Given the description of an element on the screen output the (x, y) to click on. 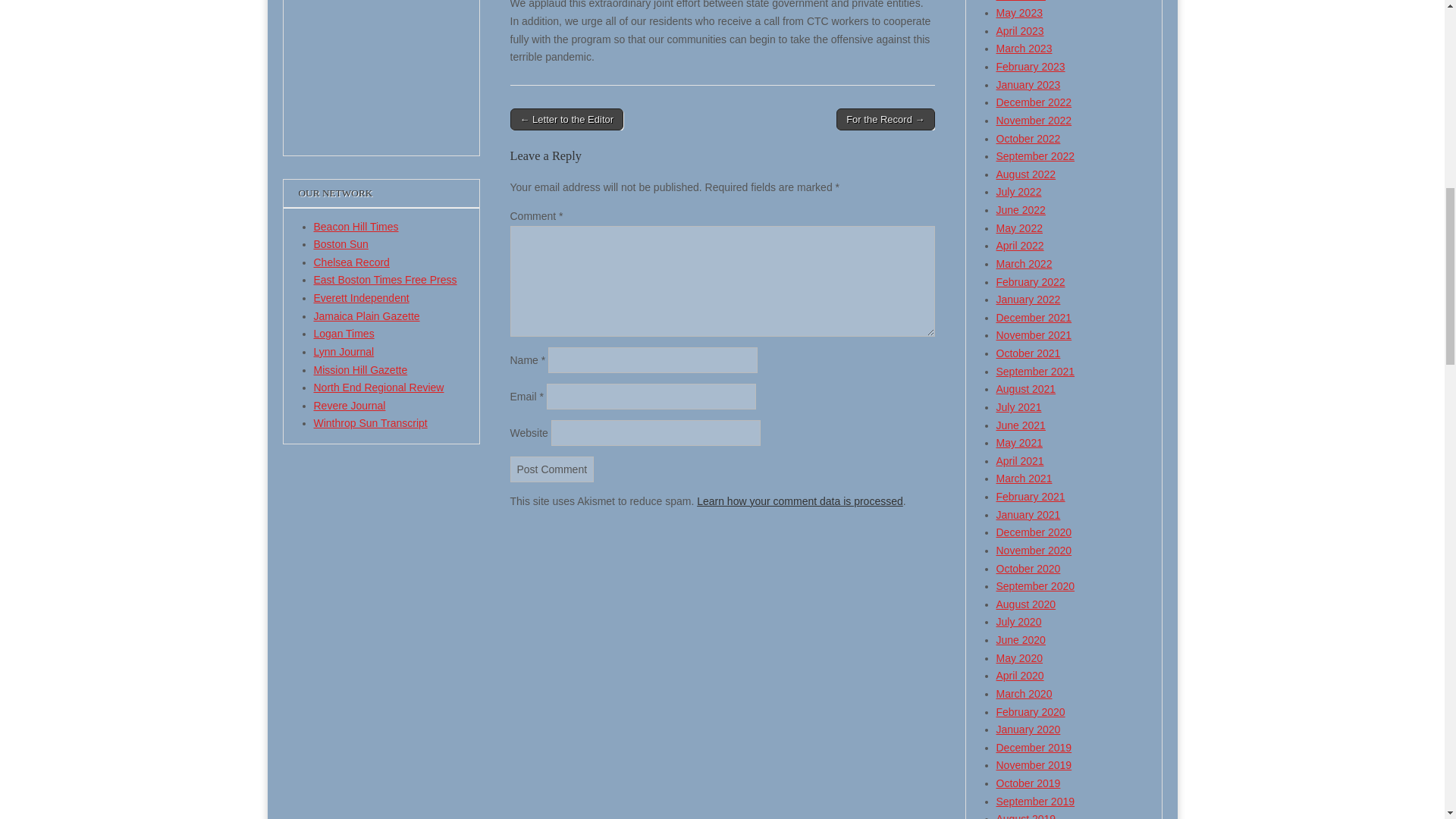
Mission Hill Gazette (360, 369)
Post Comment (551, 469)
Post Comment (551, 469)
Revere Journal (349, 405)
Lynn Journal (344, 351)
Everett Independent (361, 297)
Logan Times (344, 333)
Chelsea Record (352, 262)
Learn how your comment data is processed (799, 500)
Jamaica Plain Gazette (367, 316)
